Given the description of an element on the screen output the (x, y) to click on. 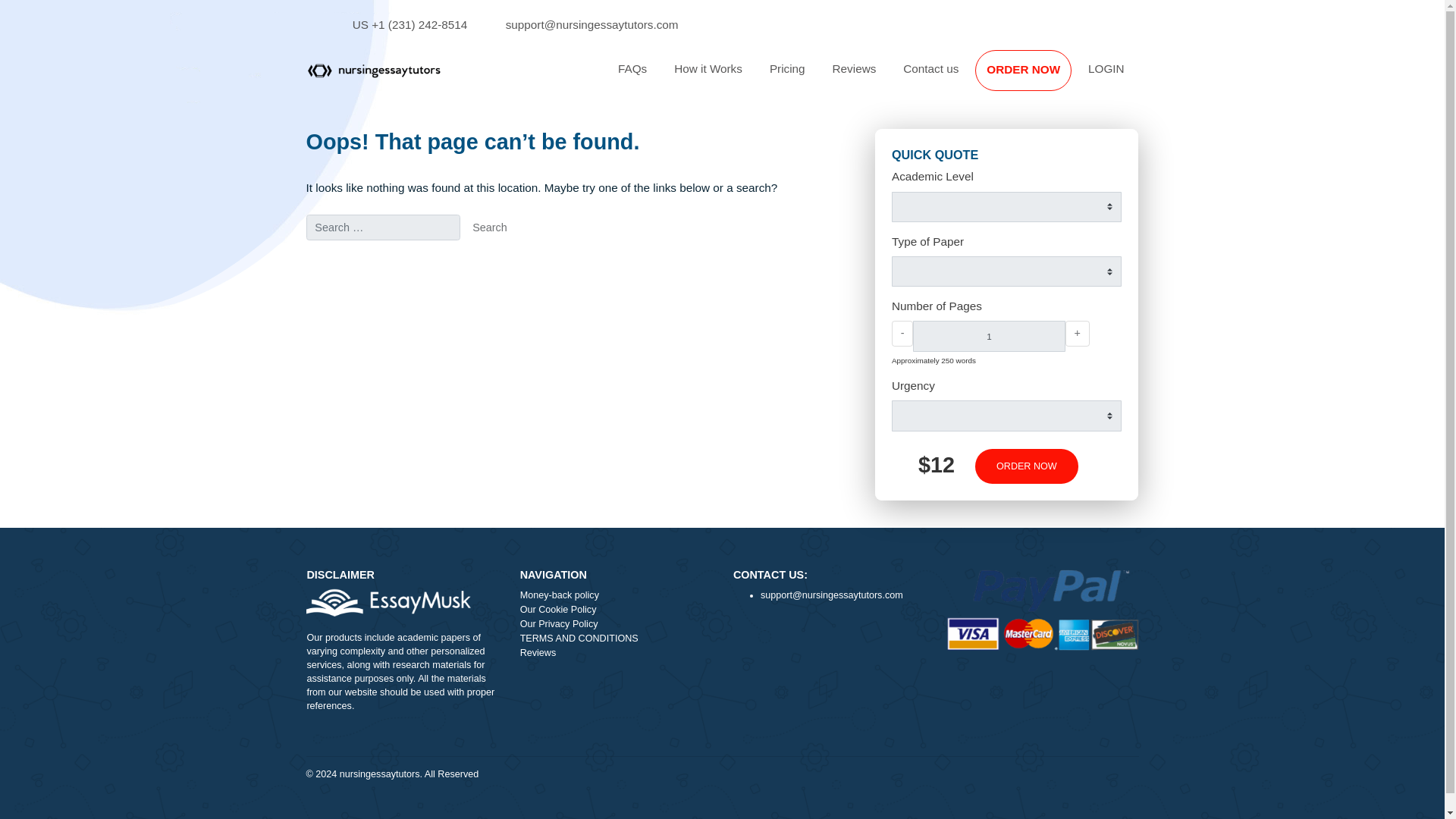
ORDER NOW (1137, 77)
Reviews (685, 725)
ORDER NOW (1137, 77)
Contact us (1034, 76)
LOGIN (1229, 76)
Reviews (948, 76)
Our Privacy Policy (685, 693)
Pricing (875, 76)
Search (544, 253)
Reviews (948, 76)
Pricing (875, 76)
Contact us (1034, 76)
Search (544, 253)
Search (544, 253)
Money-back policy (685, 662)
